Given the description of an element on the screen output the (x, y) to click on. 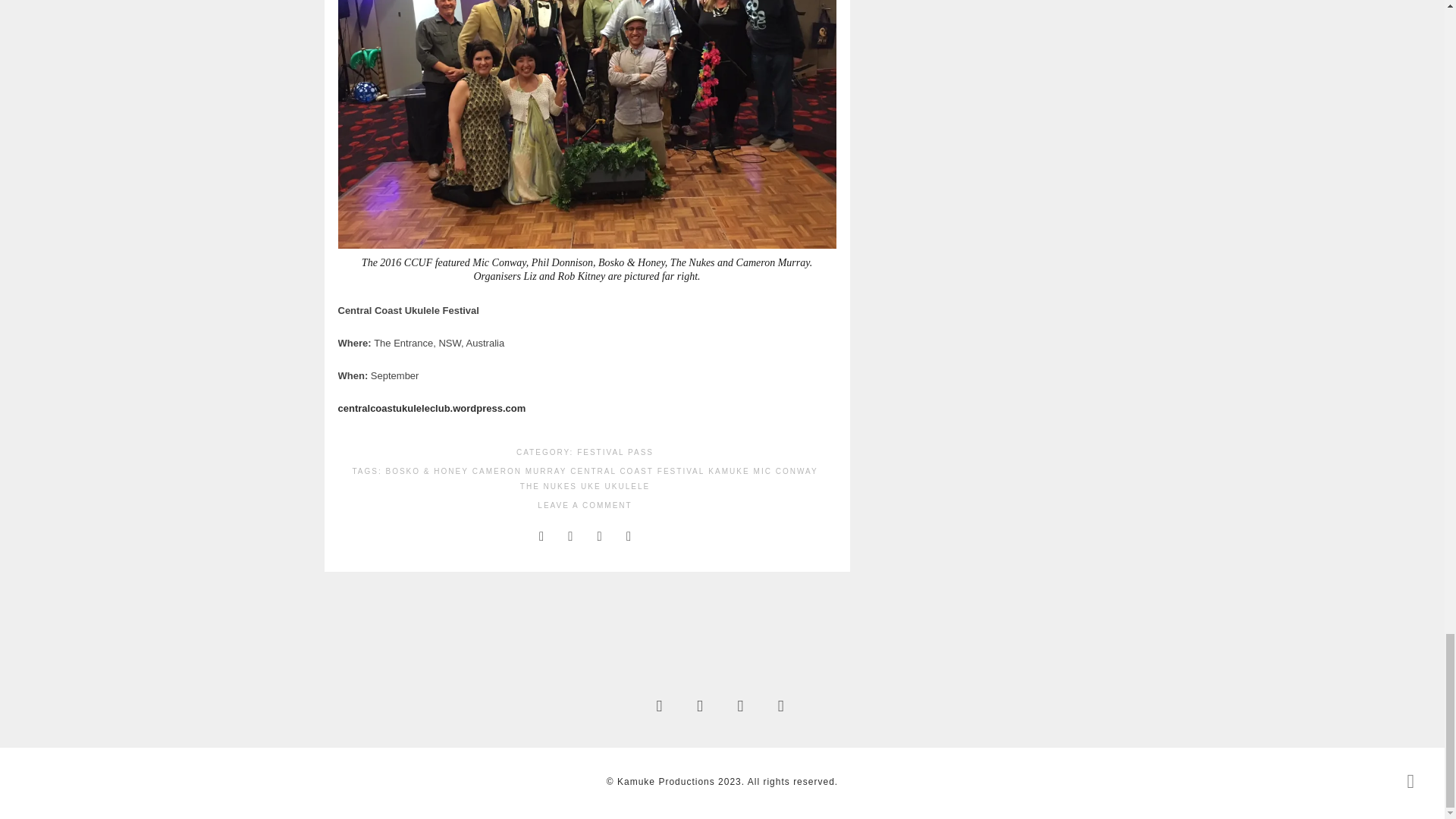
MIC CONWAY (786, 473)
CENTRAL COAST (611, 473)
THE NUKES (547, 488)
KAMUKE (728, 473)
UKULELE (627, 488)
CAMERON MURRAY (518, 473)
UKE (590, 488)
centralcoastukuleleclub.wordpress.com (431, 408)
LEAVE A COMMENT (584, 507)
FESTIVAL (681, 473)
FESTIVAL PASS (614, 454)
